Given the description of an element on the screen output the (x, y) to click on. 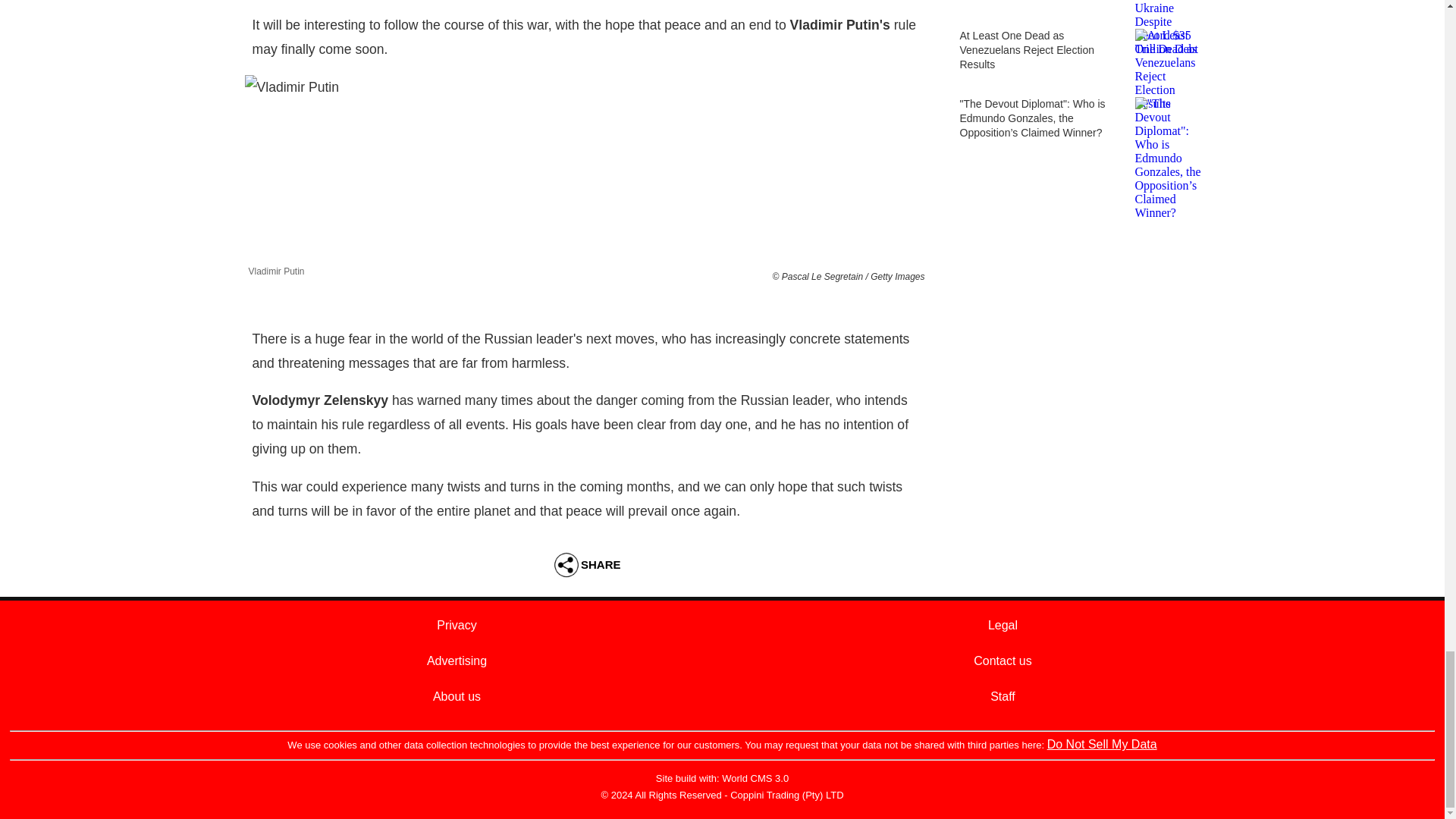
Privacy (456, 625)
